Given the description of an element on the screen output the (x, y) to click on. 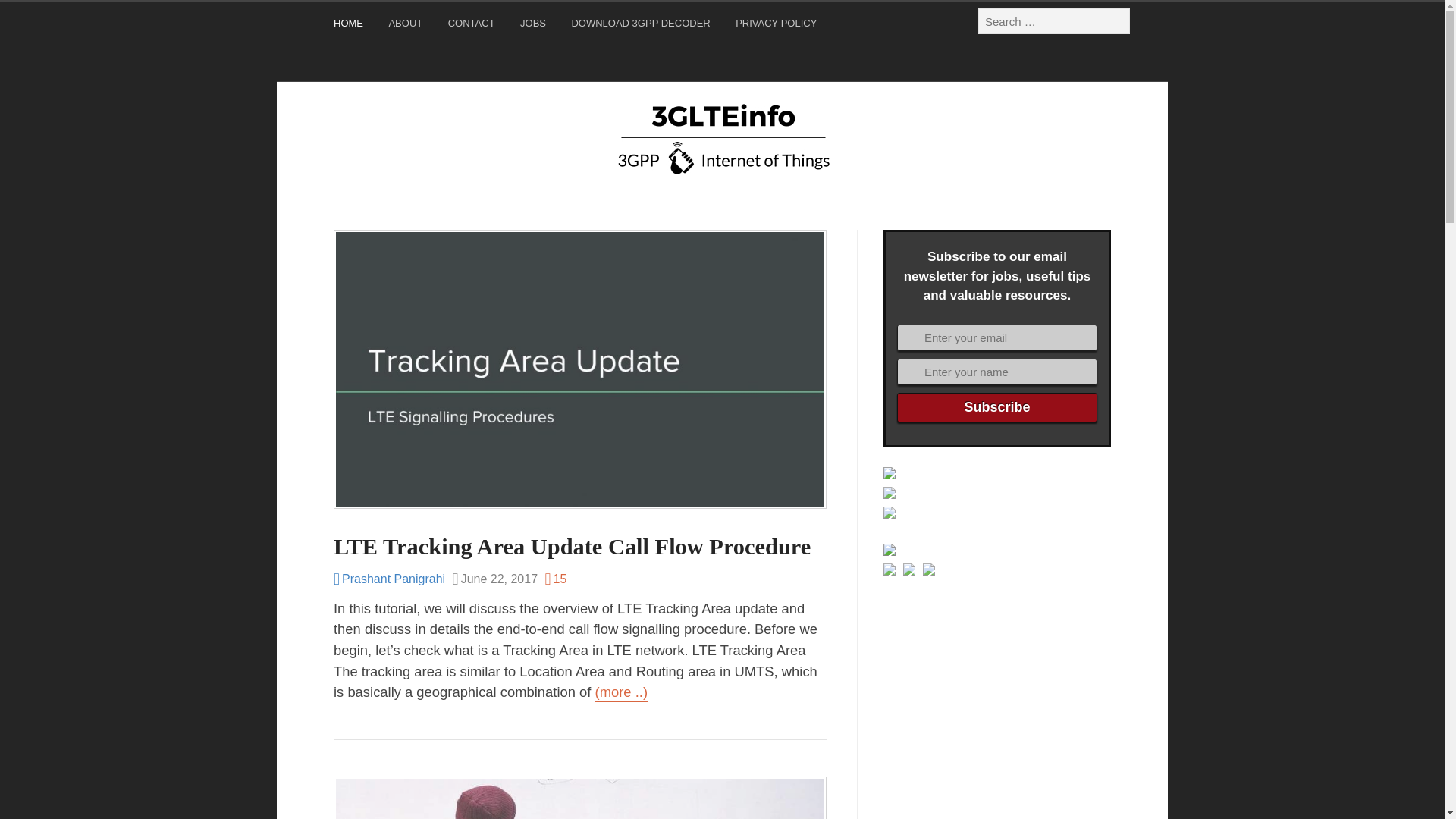
Enter your name (996, 371)
Thursday, June 22, 2017, 12:09 pm (494, 579)
Search (30, 15)
LTE Tracking Area Update Call Flow Procedure (571, 546)
ABOUT (407, 26)
DOWNLOAD 3GPP DECODER (641, 26)
Prashant Panigrahi (389, 578)
PRIVACY POLICY (778, 26)
HOME (349, 26)
Enter your email (996, 337)
